Given the description of an element on the screen output the (x, y) to click on. 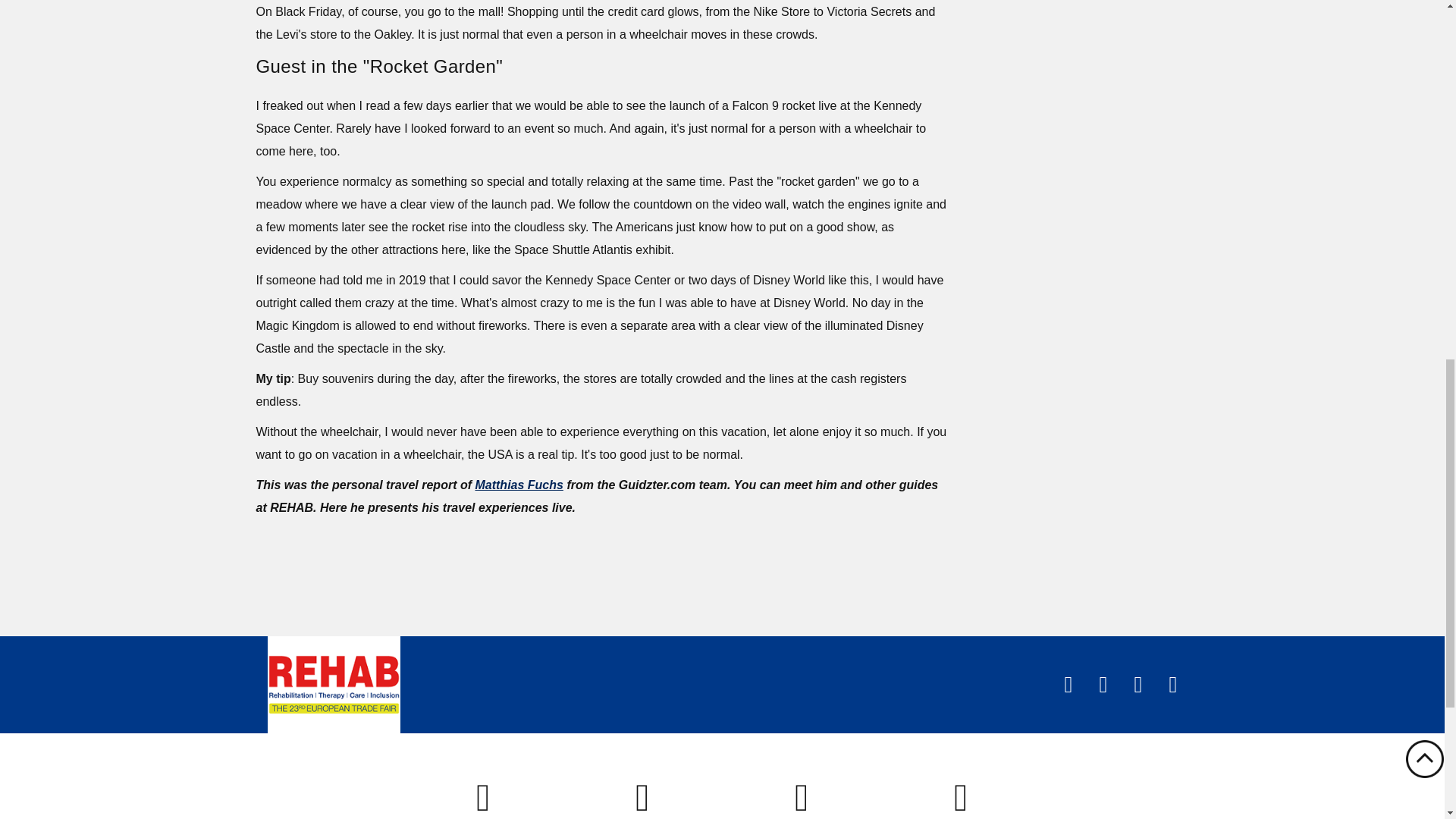
Exhibitor list (801, 798)
opens subpage journalists (961, 798)
Your way to REHAB (643, 798)
Tickets (482, 798)
home (332, 684)
